Given the description of an element on the screen output the (x, y) to click on. 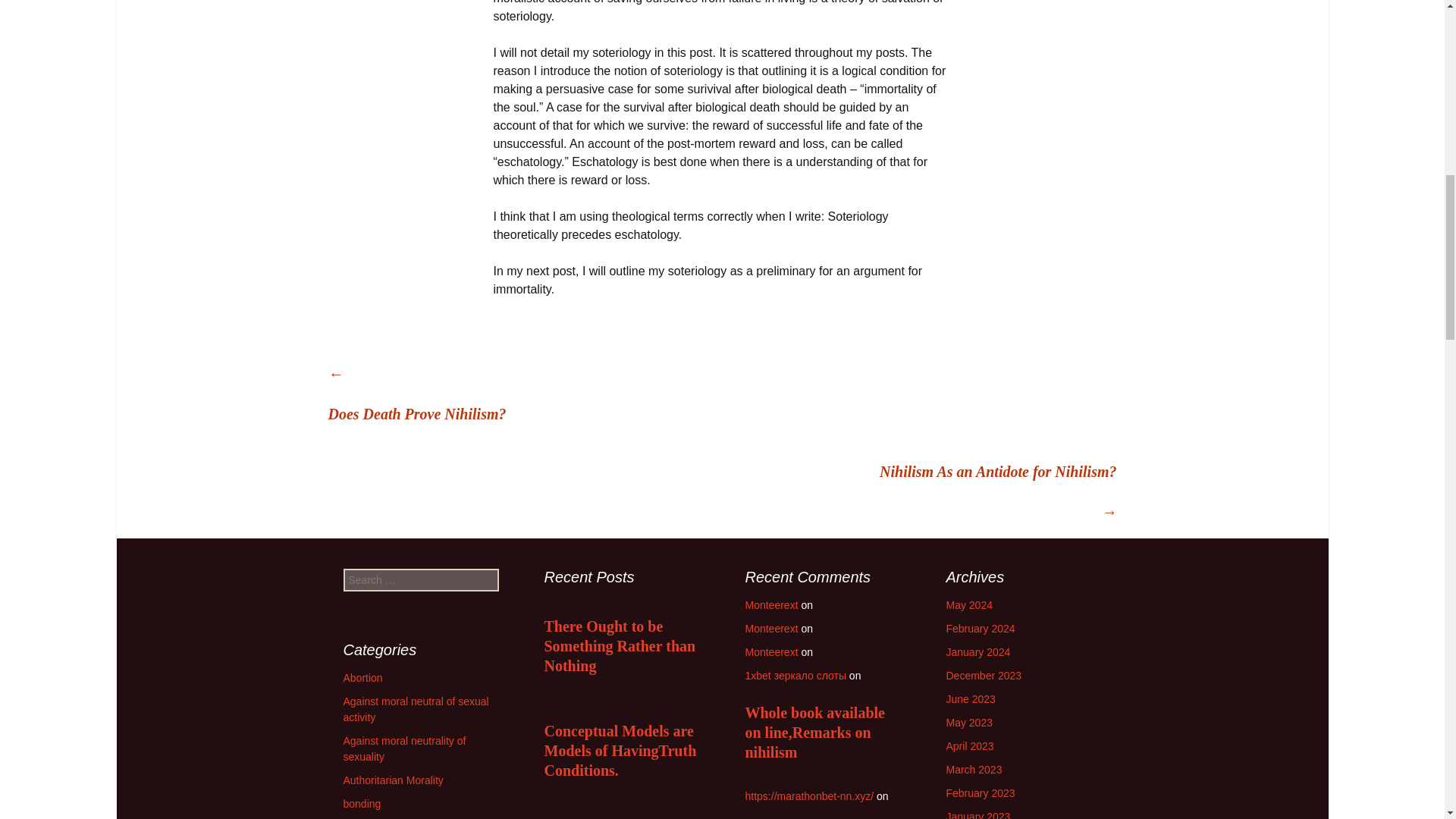
Monteerext (770, 628)
Monteerext (770, 652)
February 2024 (980, 628)
December 2023 (984, 675)
June 2023 (970, 698)
January 2024 (978, 652)
May 2024 (969, 604)
Whole book available on line,Remarks on nihilism (821, 748)
March 2023 (974, 769)
April 2023 (970, 746)
February 2023 (980, 793)
January 2023 (978, 814)
There Ought to be Something Rather than Nothing (622, 645)
May 2023 (969, 722)
Monteerext (770, 604)
